Given the description of an element on the screen output the (x, y) to click on. 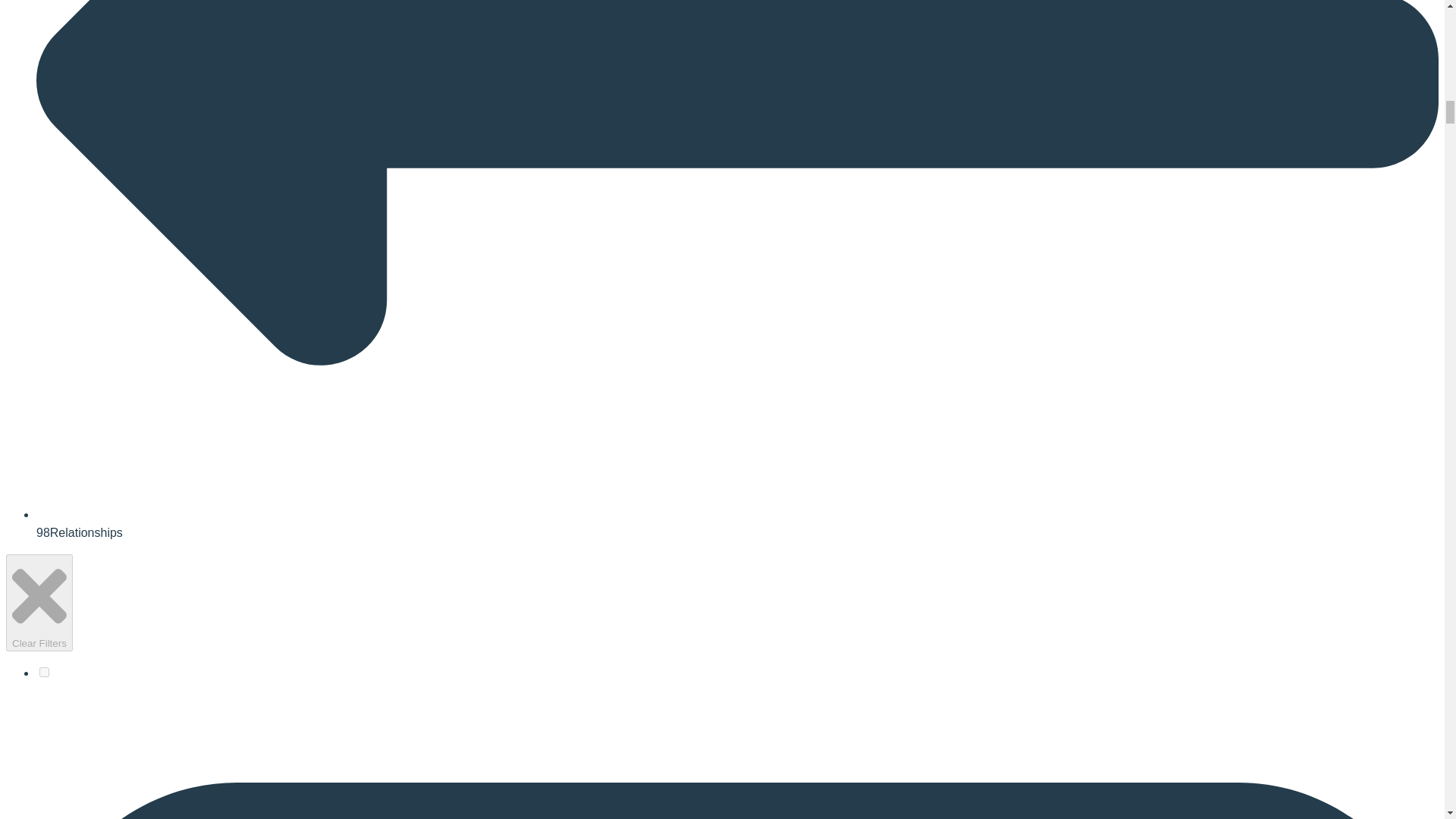
on (44, 672)
